Given the description of an element on the screen output the (x, y) to click on. 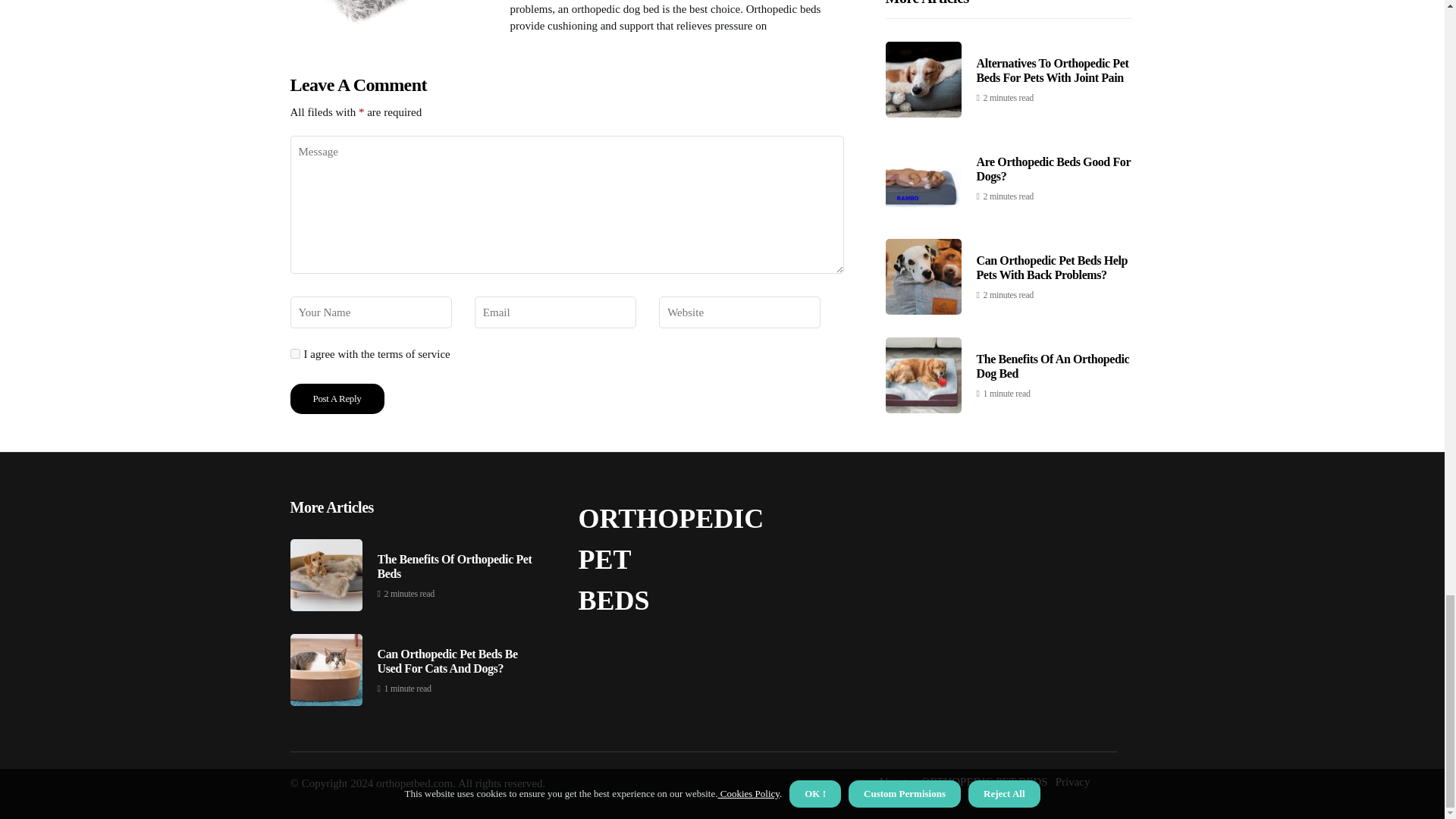
yes (294, 353)
Post a Reply (336, 399)
Post a Reply (336, 399)
